Given the description of an element on the screen output the (x, y) to click on. 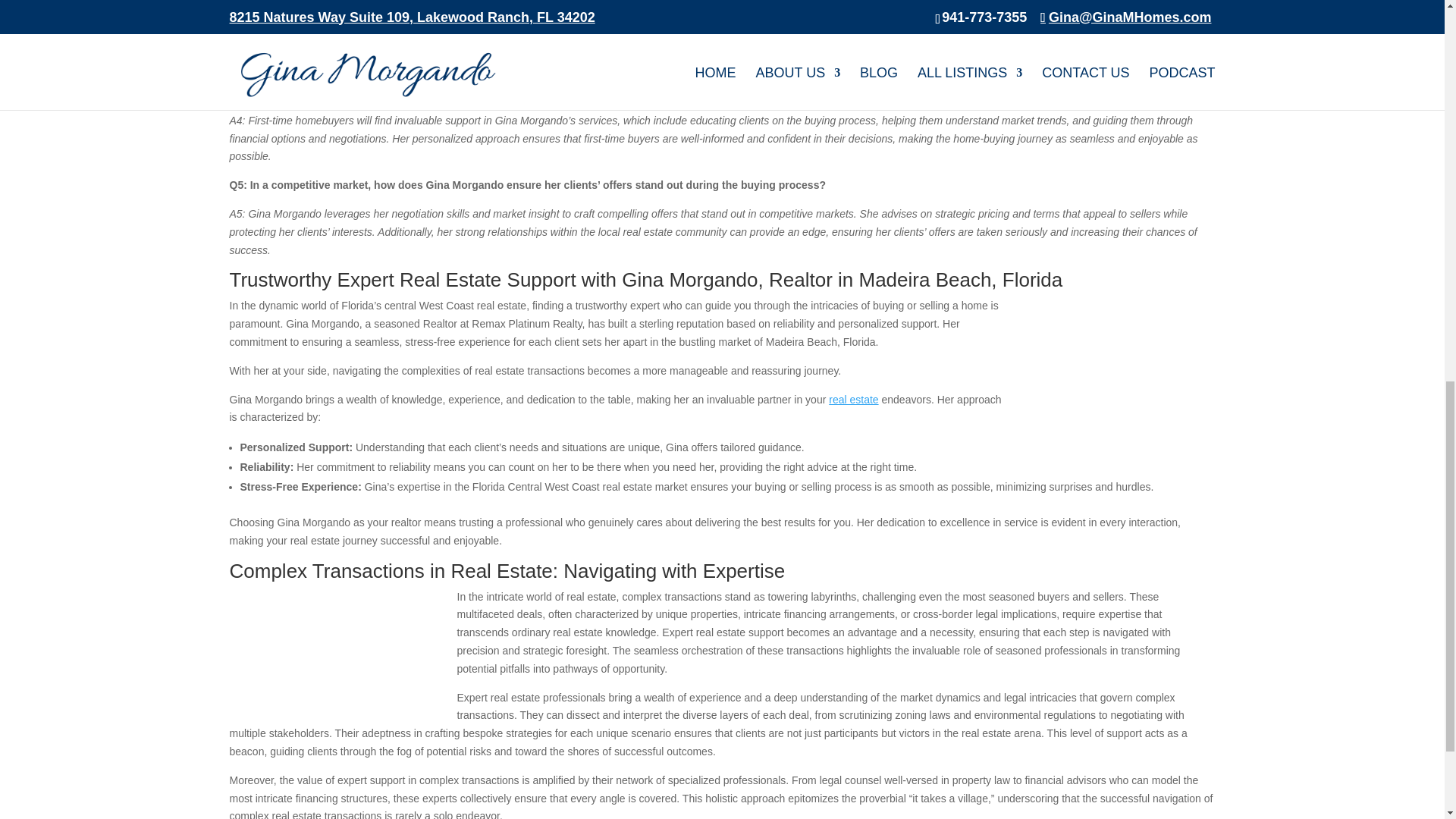
real estate (852, 398)
Florida West Coast real estate market (1088, 62)
